Given the description of an element on the screen output the (x, y) to click on. 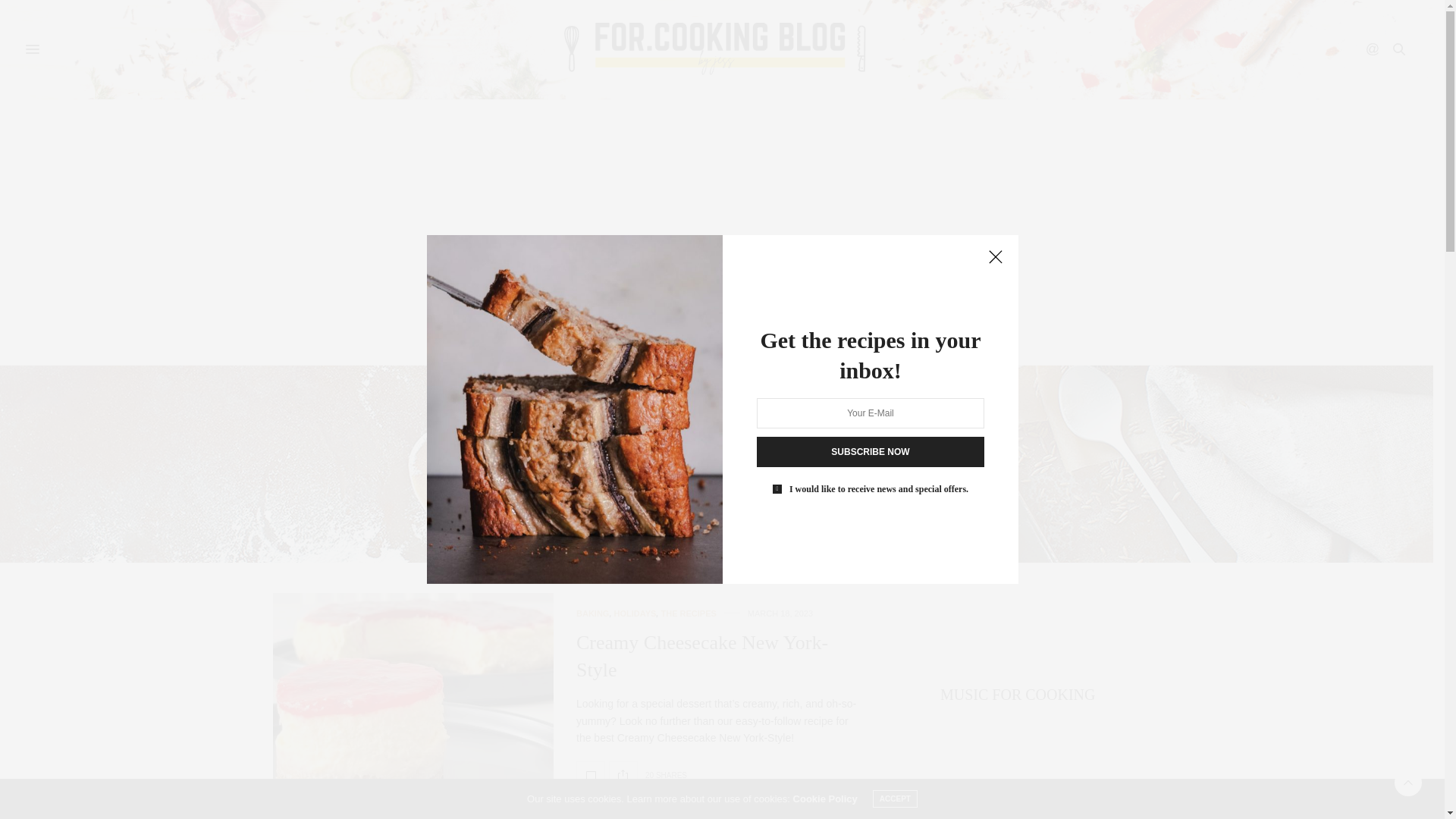
HOME (517, 345)
THE RECIPES (588, 345)
HOLIDAYS (635, 613)
Creamy Cheesecake New York-Style (702, 655)
ON NOW: SPRING RECIPES (849, 345)
BAKING (592, 613)
For Cooking Blog by jess (716, 49)
Creamy Cheesecake New York-Style (702, 655)
Creamy Cheesecake New York-Style (590, 774)
SUBSCRIBE NOW (870, 451)
Creamy Cheesecake New York-Style (413, 698)
BAKING (735, 345)
HEALTHY (669, 345)
THE RECIPES (688, 613)
